Given the description of an element on the screen output the (x, y) to click on. 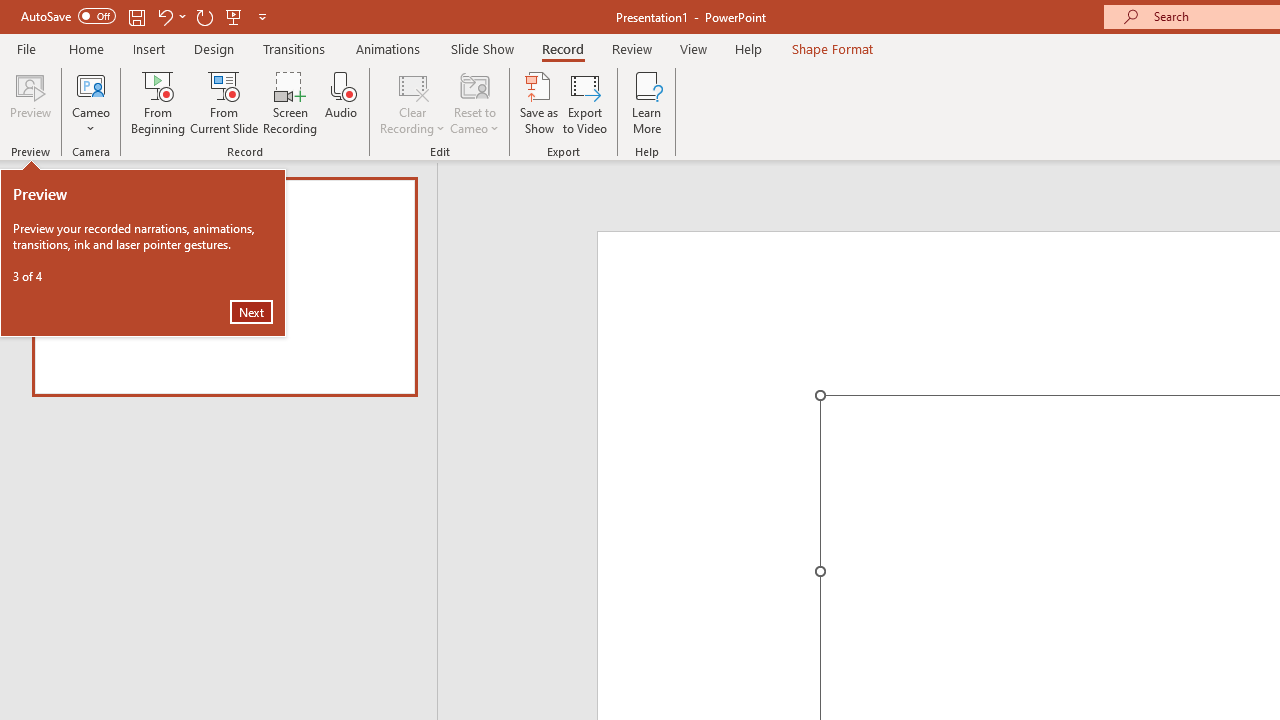
Next (251, 312)
Learn More (646, 102)
